Given the description of an element on the screen output the (x, y) to click on. 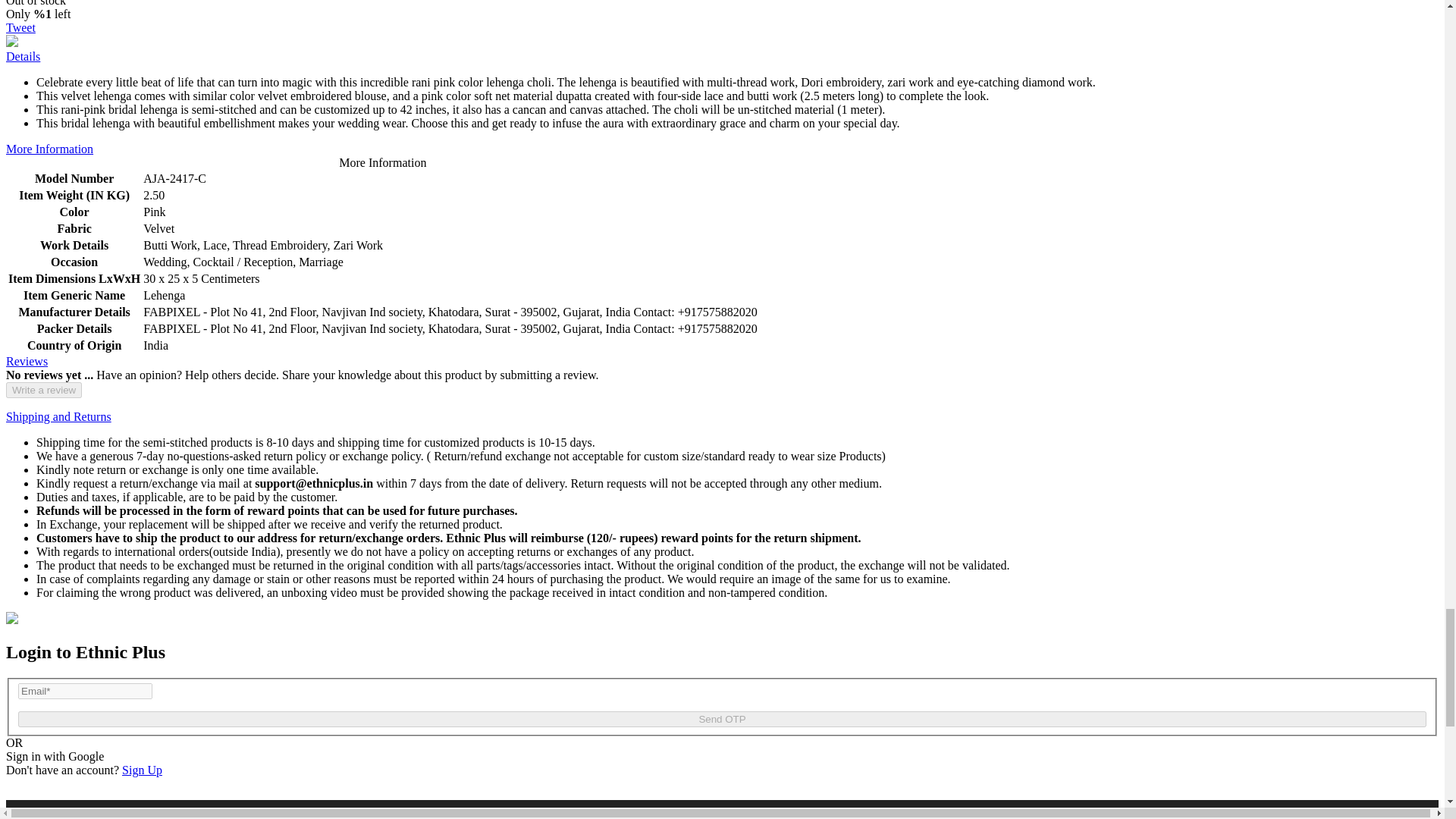
Email (84, 691)
